Given the description of an element on the screen output the (x, y) to click on. 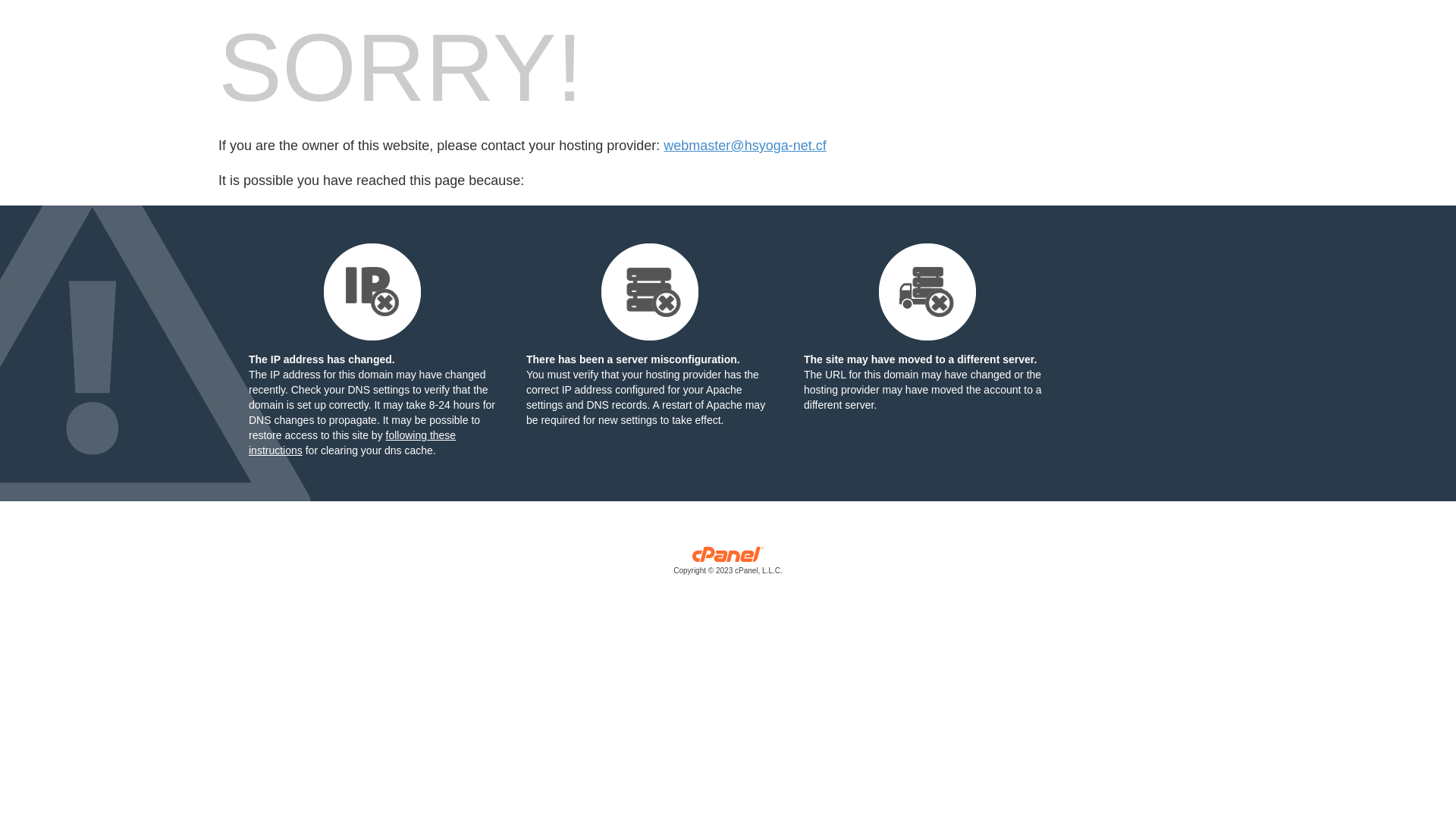
webmaster@hsyoga-net.cf Element type: text (744, 145)
following these instructions Element type: text (351, 442)
